Given the description of an element on the screen output the (x, y) to click on. 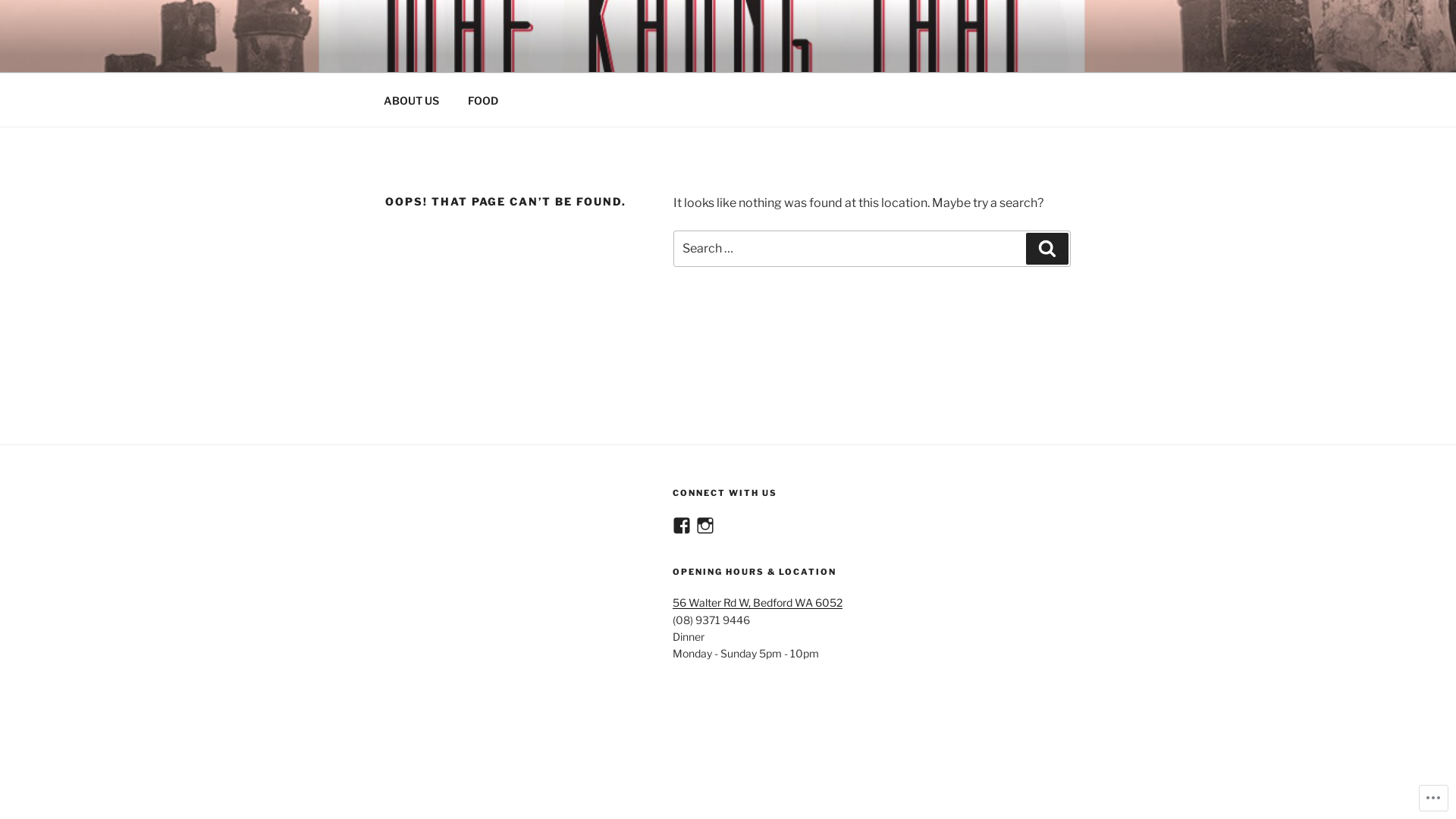
ABOUT US Element type: text (410, 100)
MAE KHONG THAI RESTAURANT Element type: text (635, 52)
56 Walter Rd W, Bedford WA 6052 Element type: text (757, 602)
FOOD Element type: text (482, 100)
